Given the description of an element on the screen output the (x, y) to click on. 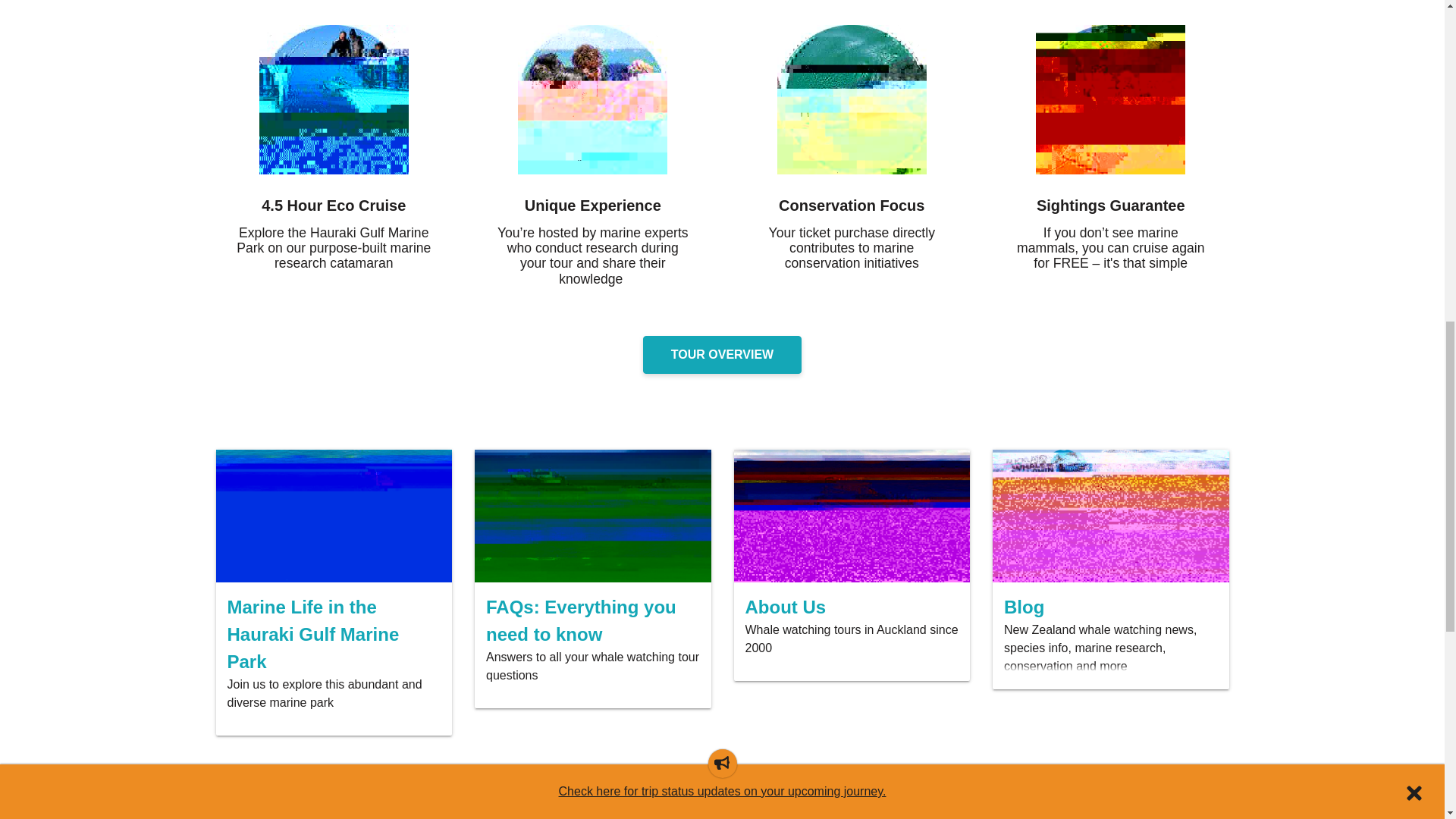
Blog (1110, 606)
TOUR OVERVIEW (722, 354)
FAQs: Everything you need to know (593, 620)
Marine Life in the Hauraki Gulf Marine Park (334, 634)
About Us (851, 606)
